Given the description of an element on the screen output the (x, y) to click on. 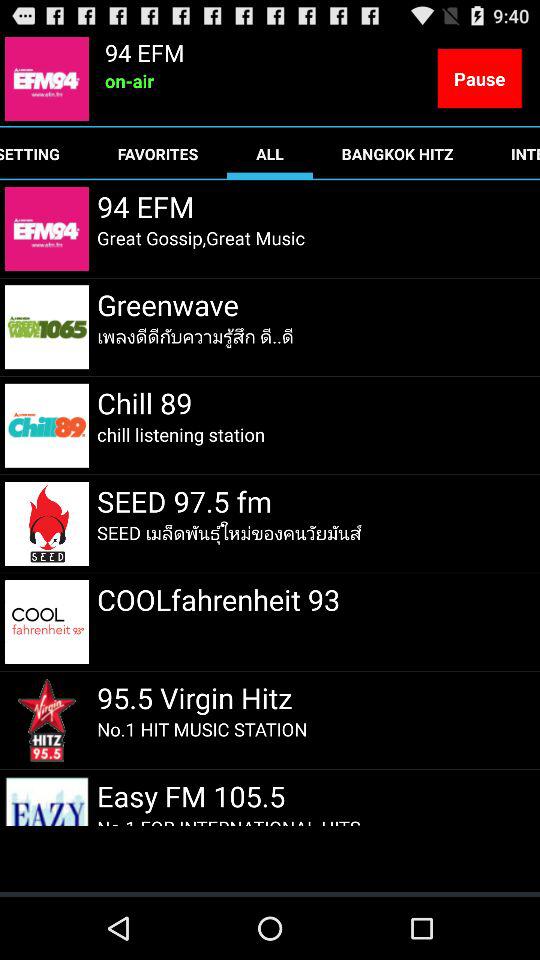
select app above no 1 for item (194, 795)
